Given the description of an element on the screen output the (x, y) to click on. 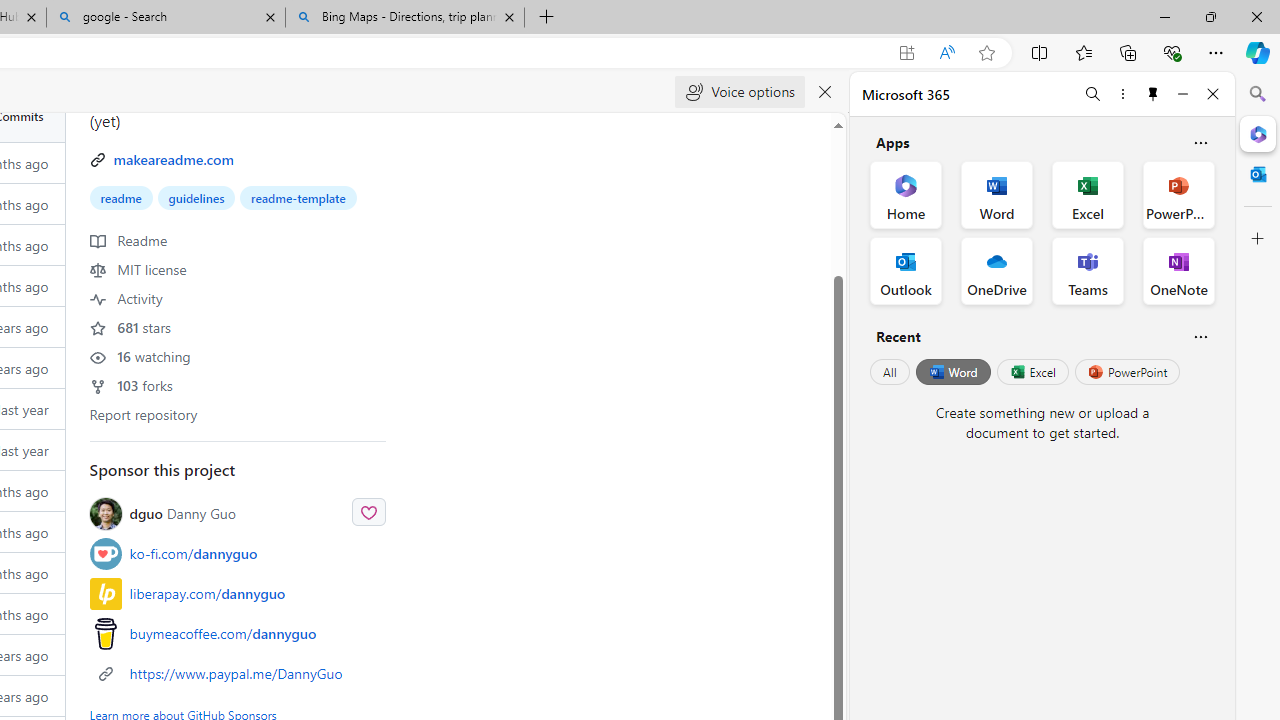
All (890, 372)
buy_me_a_coffee (105, 633)
16 watching (139, 355)
ko_fi (105, 553)
681 stars (130, 326)
dguo Danny Guo (182, 513)
Excel Office App (1087, 194)
OneNote Office App (1178, 270)
Close read aloud (825, 92)
 MIT license (137, 269)
Home Office App (906, 194)
Is this helpful? (1200, 336)
